Given the description of an element on the screen output the (x, y) to click on. 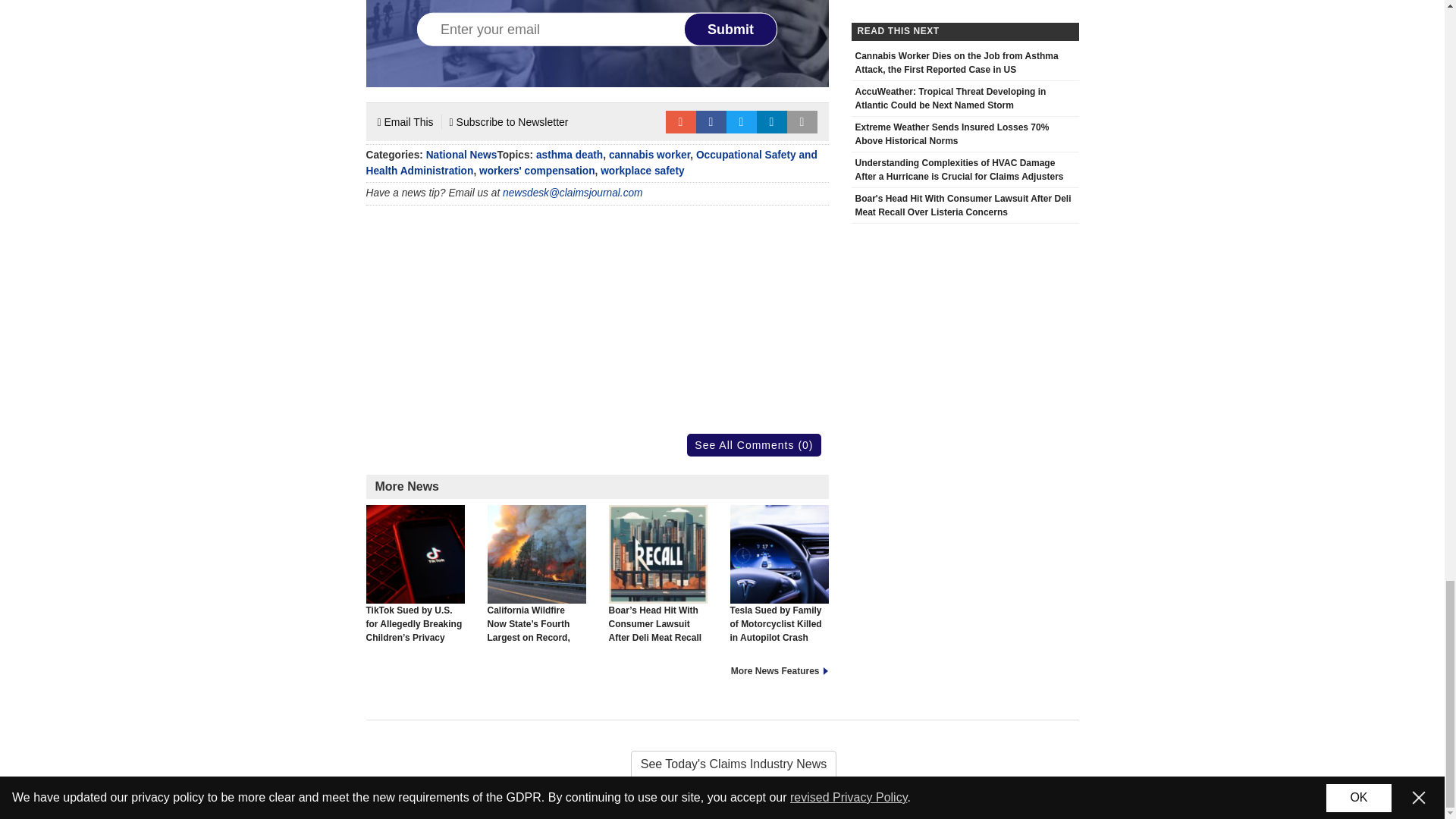
Print Article (801, 121)
Submit (730, 28)
Email to a friend (680, 121)
See Today's Claims Industry News (721, 764)
Subscribe to Newsletter (509, 121)
Share on Twitter. (741, 121)
Post to Facebook. (710, 121)
Share on LinkedIn. (772, 121)
See Today's Claims Industry News (721, 764)
Email This (405, 121)
